Given the description of an element on the screen output the (x, y) to click on. 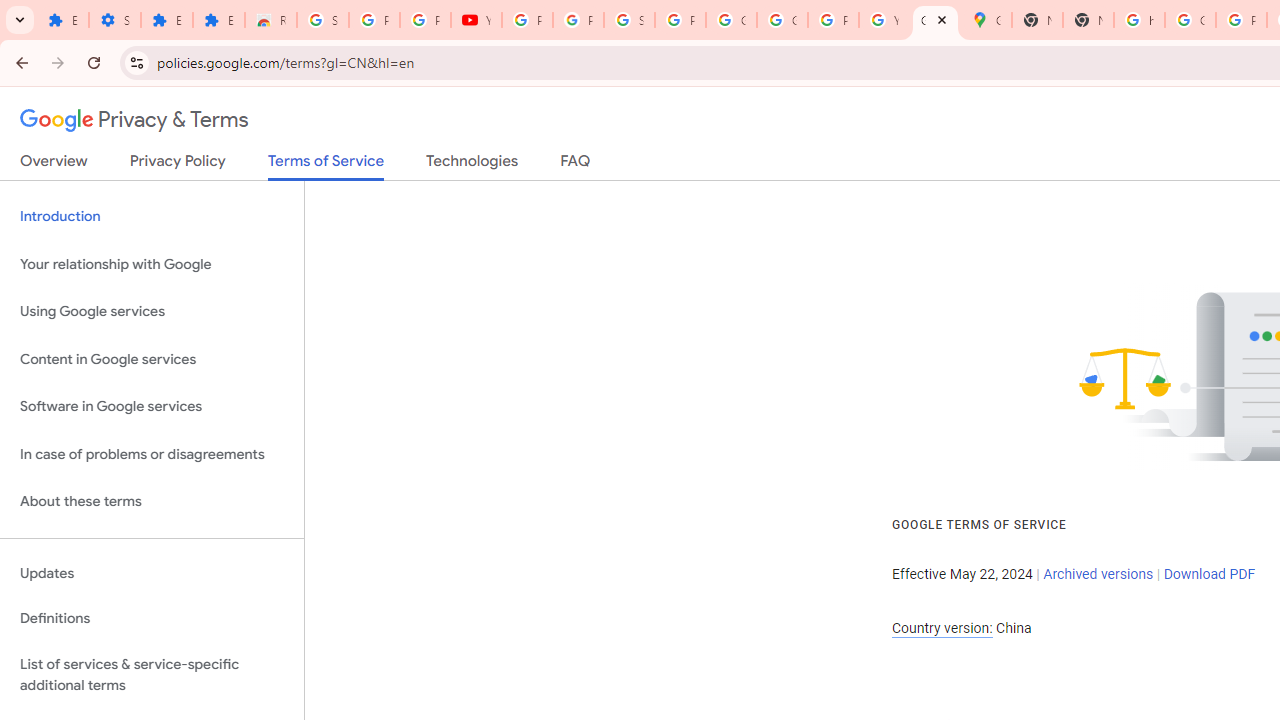
YouTube (475, 20)
New Tab (1037, 20)
Using Google services (152, 312)
Sign in - Google Accounts (629, 20)
